Given the description of an element on the screen output the (x, y) to click on. 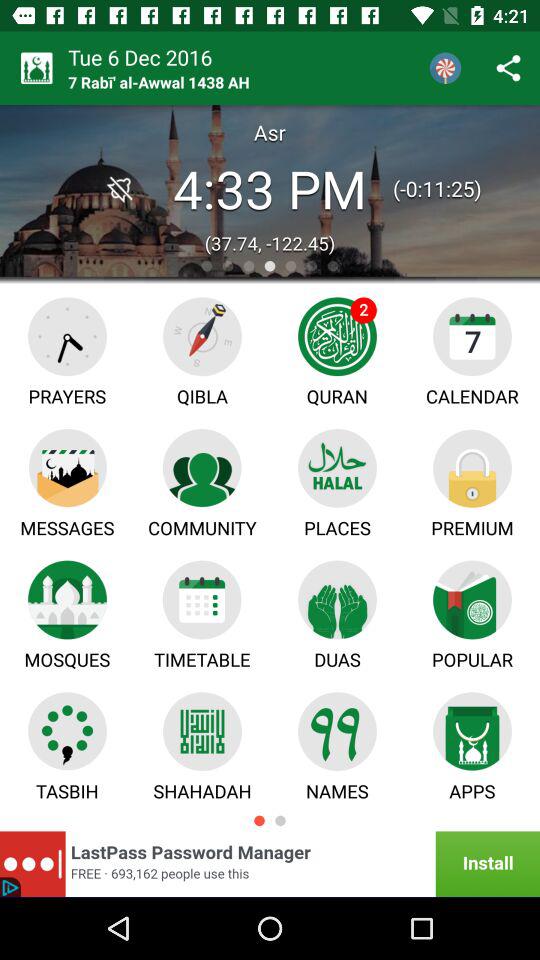
go to install (469, 865)
